Given the description of an element on the screen output the (x, y) to click on. 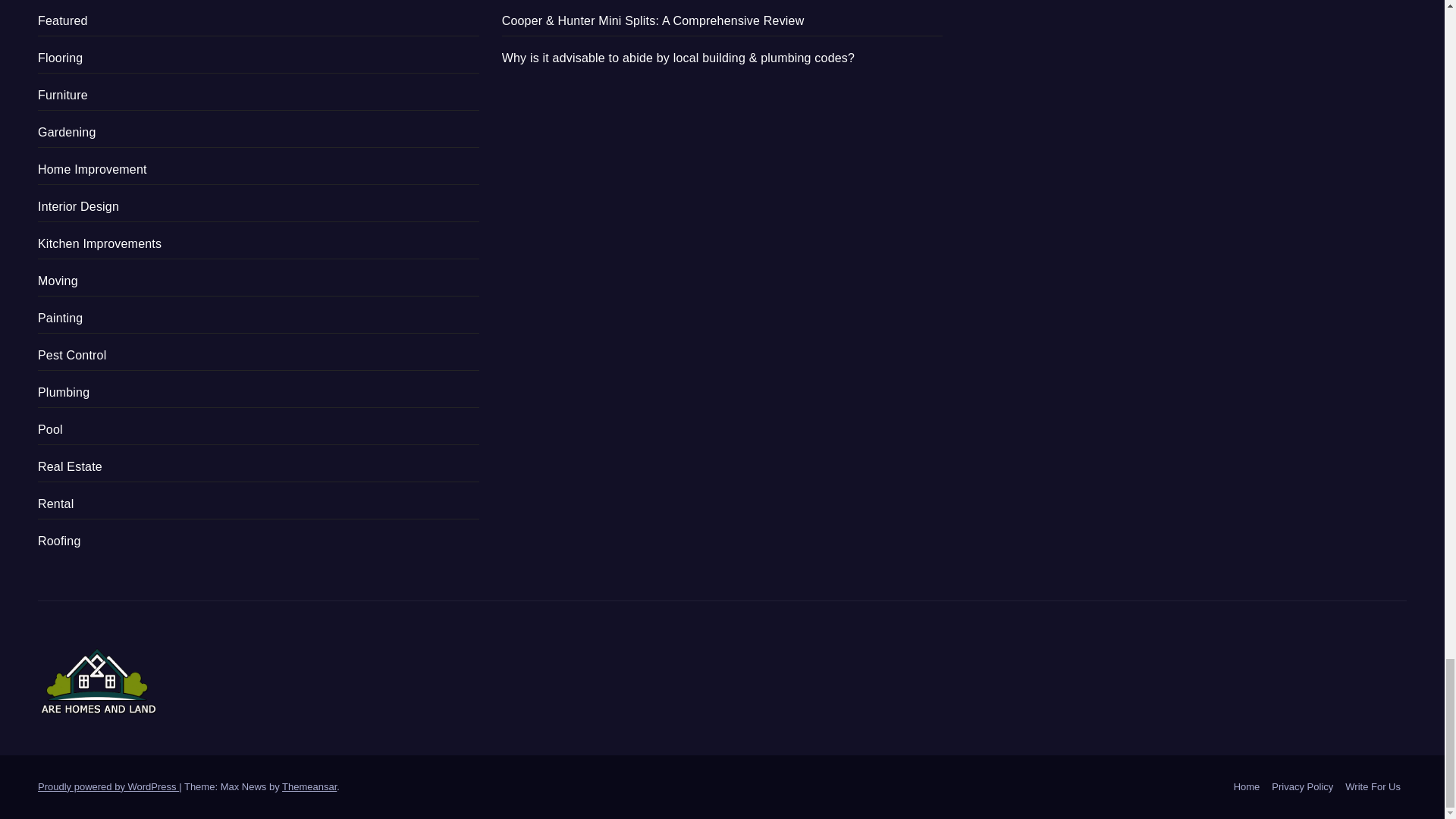
Home (1246, 786)
